Given the description of an element on the screen output the (x, y) to click on. 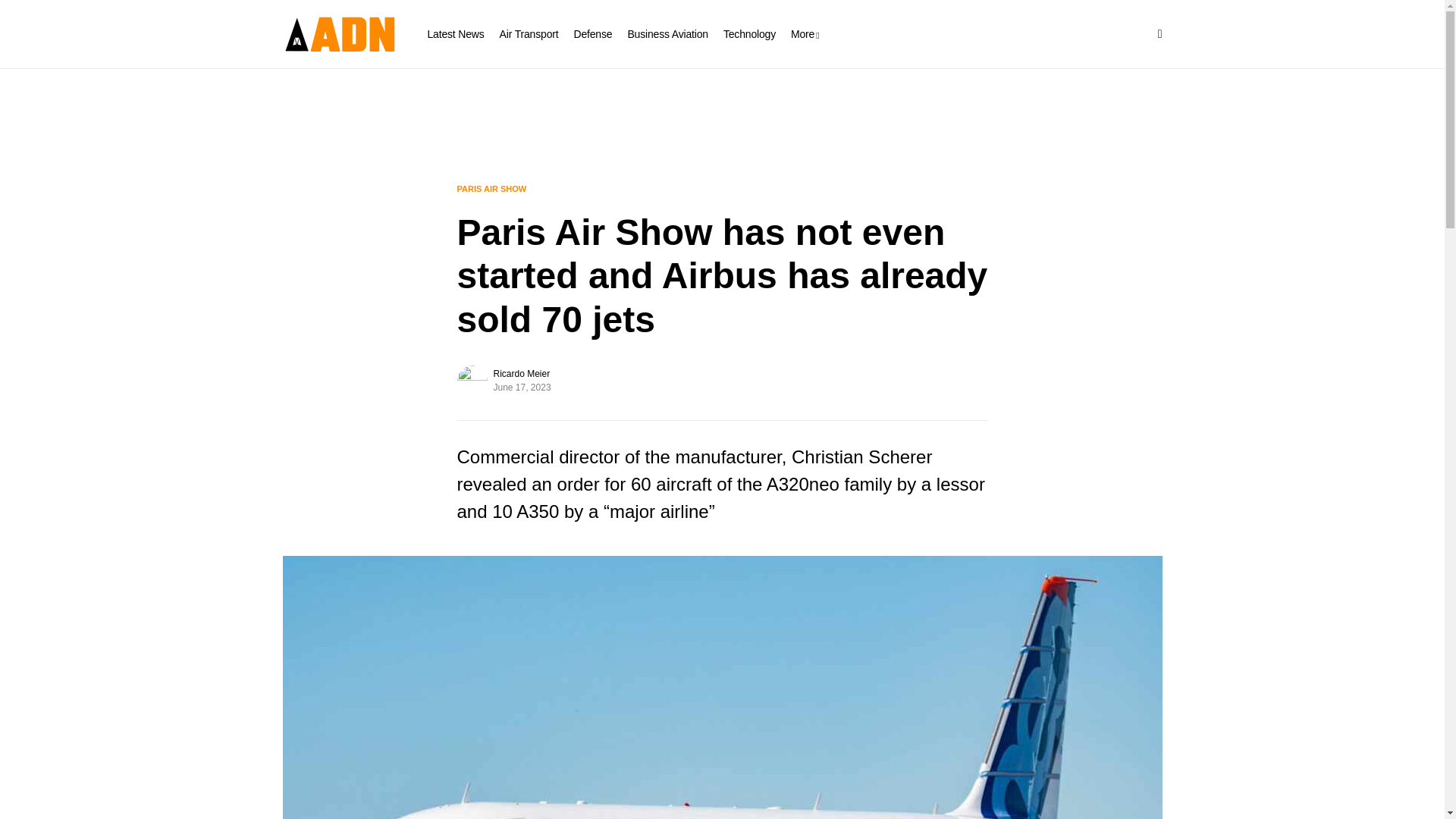
PARIS AIR SHOW (491, 188)
Business Aviation (667, 33)
Ricardo Meier (521, 373)
